Given the description of an element on the screen output the (x, y) to click on. 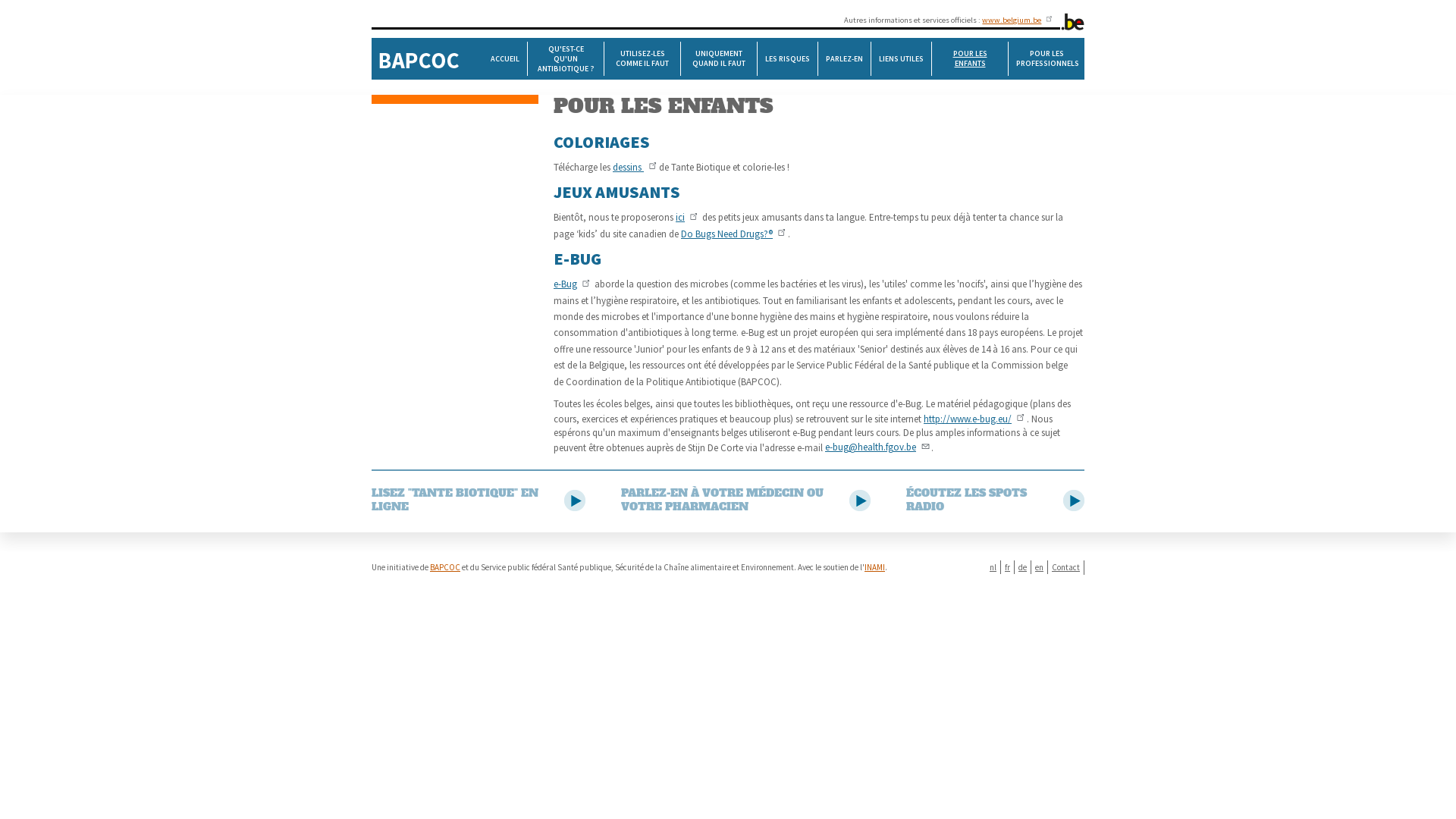
fr Element type: text (1007, 566)
INAMI Element type: text (874, 566)
LISEZ "TANTE BIOTIQUE" EN LIGNE Element type: text (478, 501)
POUR LES PROFESSIONNELS Element type: text (1046, 58)
http://www.e-bug.eu/(le lien est externe) Element type: text (974, 418)
LIENS UTILES Element type: text (901, 58)
Aller au contenu principal Element type: text (0, 0)
dessins (le lien est externe) Element type: text (635, 166)
UTILISEZ-LES COMME IL FAUT Element type: text (642, 58)
de Element type: text (1022, 566)
ACCUEIL Element type: text (505, 58)
QU'EST-CE QU'UN ANTIBIOTIQUE ? Element type: text (565, 58)
BAPCOC Element type: text (444, 566)
www.belgium.be(le lien est externe) Element type: text (1018, 20)
ici(le lien est externe) Element type: text (687, 216)
PARLEZ-EN Element type: text (844, 58)
LES RISQUES Element type: text (787, 58)
UNIQUEMENT QUAND IL FAUT Element type: text (718, 58)
Contact Element type: text (1065, 566)
e-bug@health.fgov.be(link sends email) Element type: text (878, 446)
en Element type: text (1039, 566)
e-Bug(le lien est externe) Element type: text (572, 283)
Back to the home page Element type: hover (418, 59)
nl Element type: text (992, 566)
POUR LES ENFANTS Element type: text (969, 58)
